Given the description of an element on the screen output the (x, y) to click on. 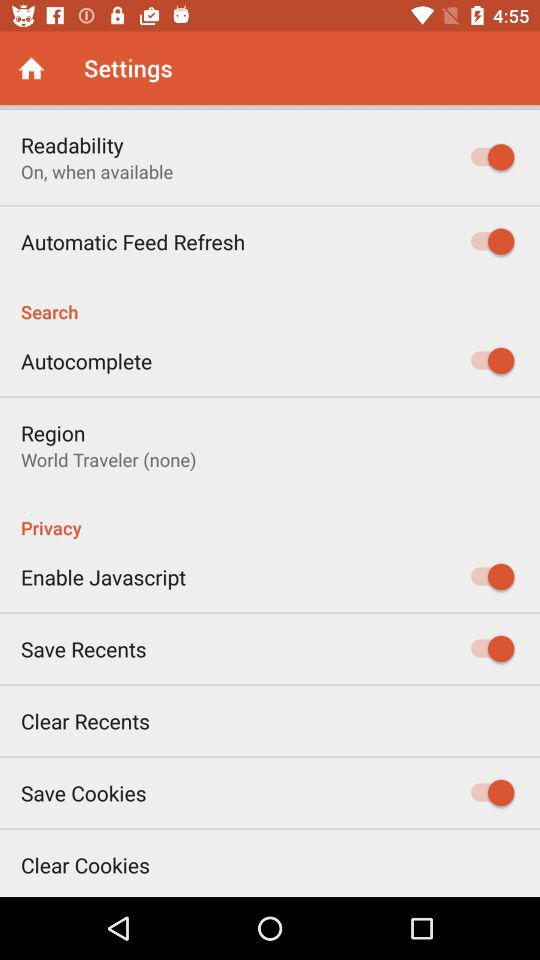
go home (31, 68)
